Given the description of an element on the screen output the (x, y) to click on. 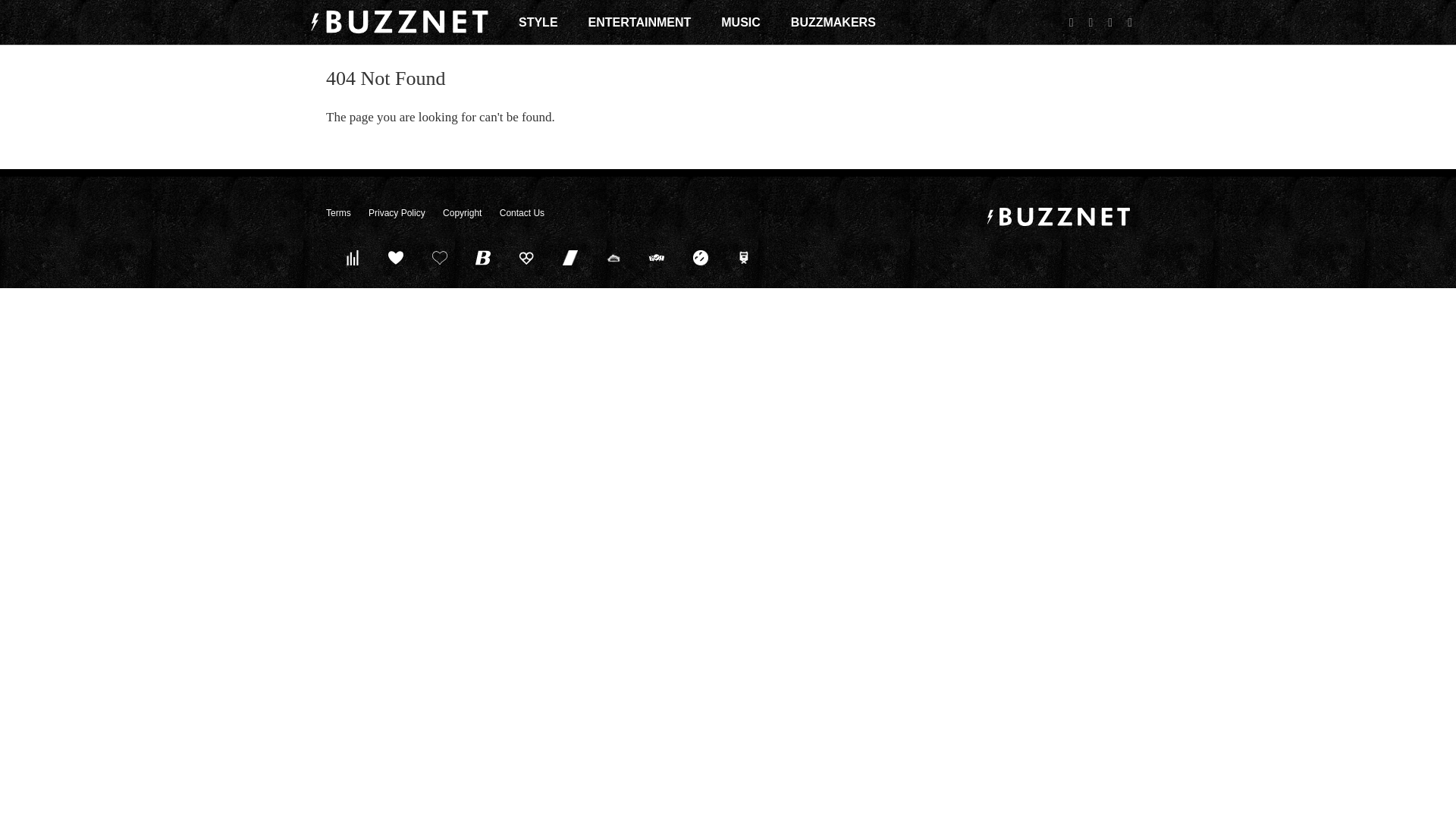
Hooch (526, 257)
BleacherBreaker (483, 257)
Pure Volume (351, 257)
Contact Us (521, 213)
ENTERTAINMENT (639, 22)
Explored Hollywood (743, 257)
STYLE (538, 22)
Privacy Policy (396, 213)
Quizscape (656, 257)
Trend Chaser (570, 257)
Copyright (461, 213)
Terms (338, 213)
MUSIC (740, 22)
Post Fun (439, 257)
Daily Funny (699, 257)
